Given the description of an element on the screen output the (x, y) to click on. 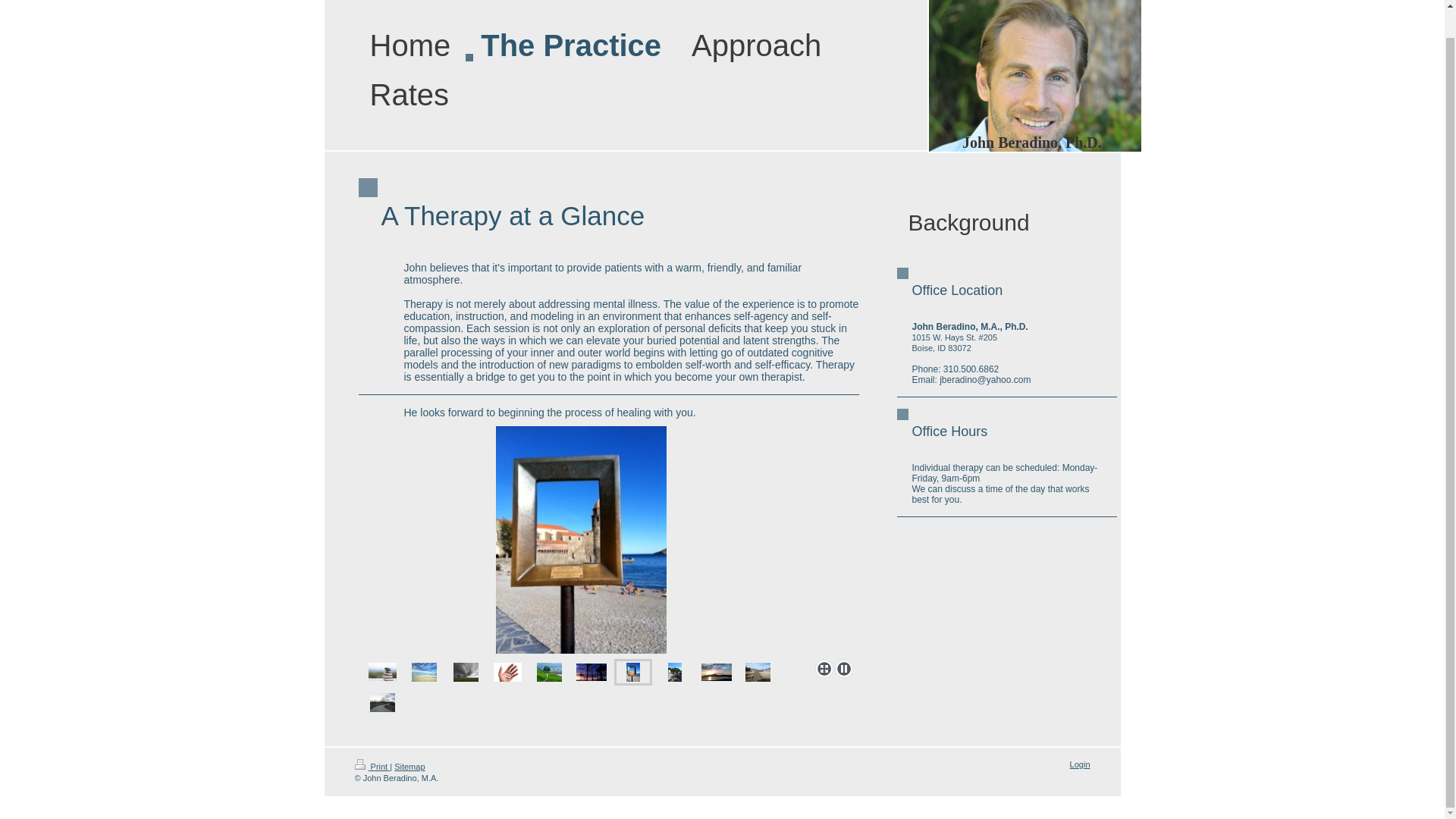
Print (372, 766)
Login (1080, 764)
Sitemap (409, 766)
Approach (756, 52)
Background (1007, 222)
Rates (409, 102)
The Practice (571, 52)
Home (410, 52)
John Beradino, Ph.D. (1032, 142)
